Given the description of an element on the screen output the (x, y) to click on. 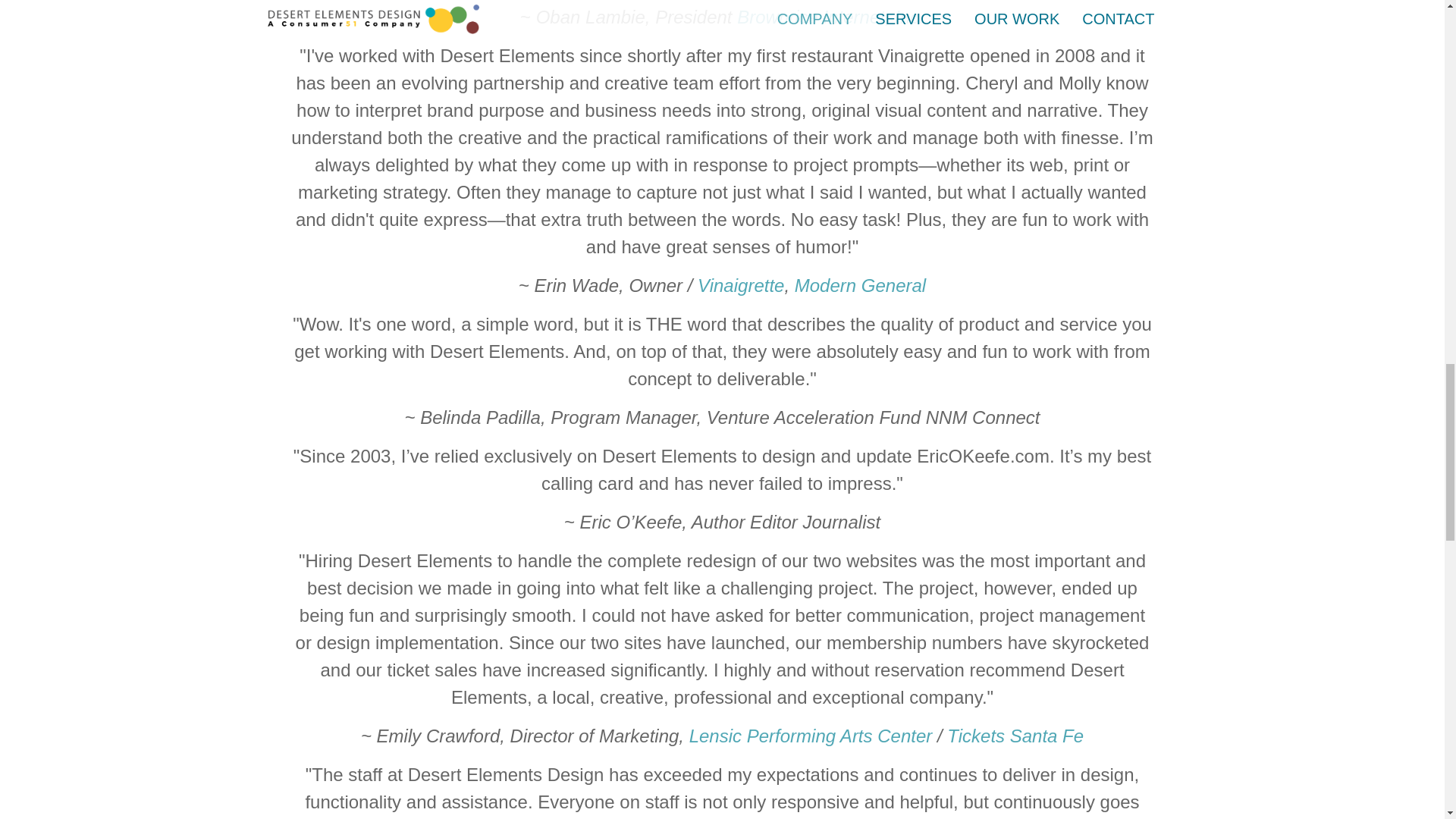
Modern General (860, 285)
Lensic Performing Arts Center (810, 735)
Brownrice Internet, Inc. (830, 16)
Tickets Santa Fe (1015, 735)
Vinaigrette (740, 285)
